Given the description of an element on the screen output the (x, y) to click on. 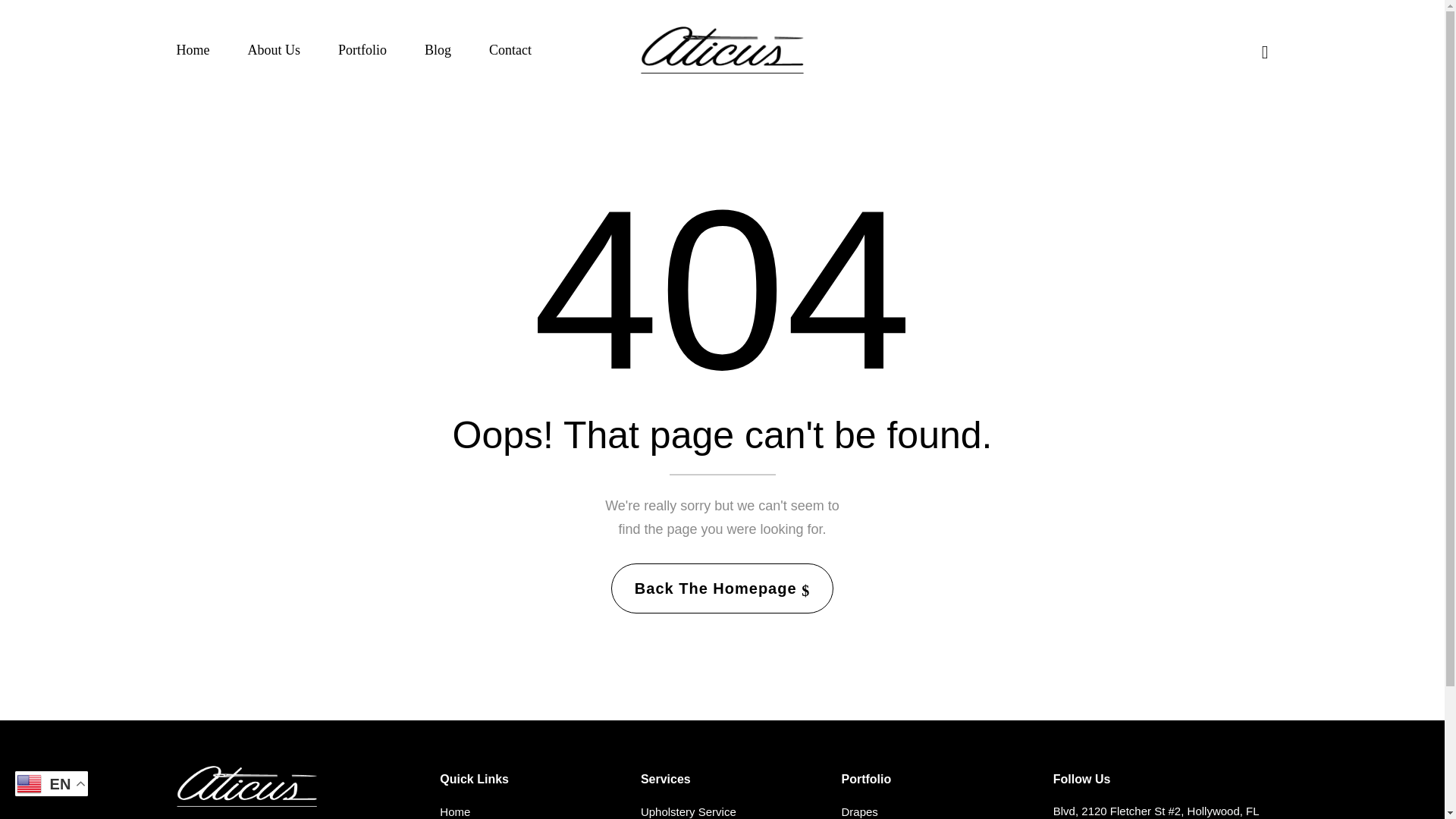
Contact (510, 49)
Upholstery Service (731, 810)
Back The Homepage (721, 588)
About Us (273, 49)
Home (192, 49)
Portfolio (362, 49)
Blog (438, 49)
Drapes (937, 810)
Home (530, 810)
